Given the description of an element on the screen output the (x, y) to click on. 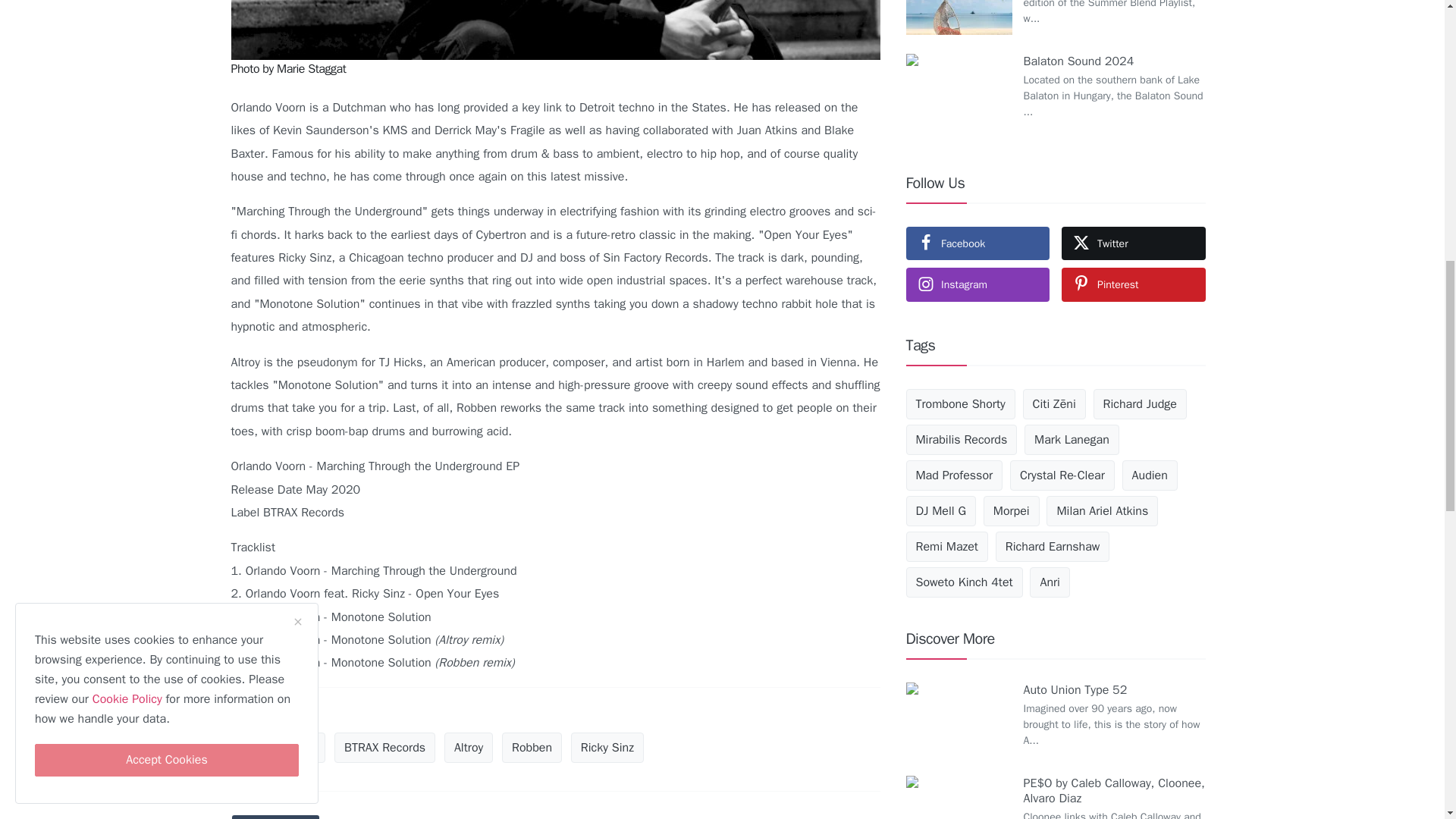
Altroy (468, 747)
BTRAX Records (384, 747)
Orlando Voorn (277, 747)
